Given the description of an element on the screen output the (x, y) to click on. 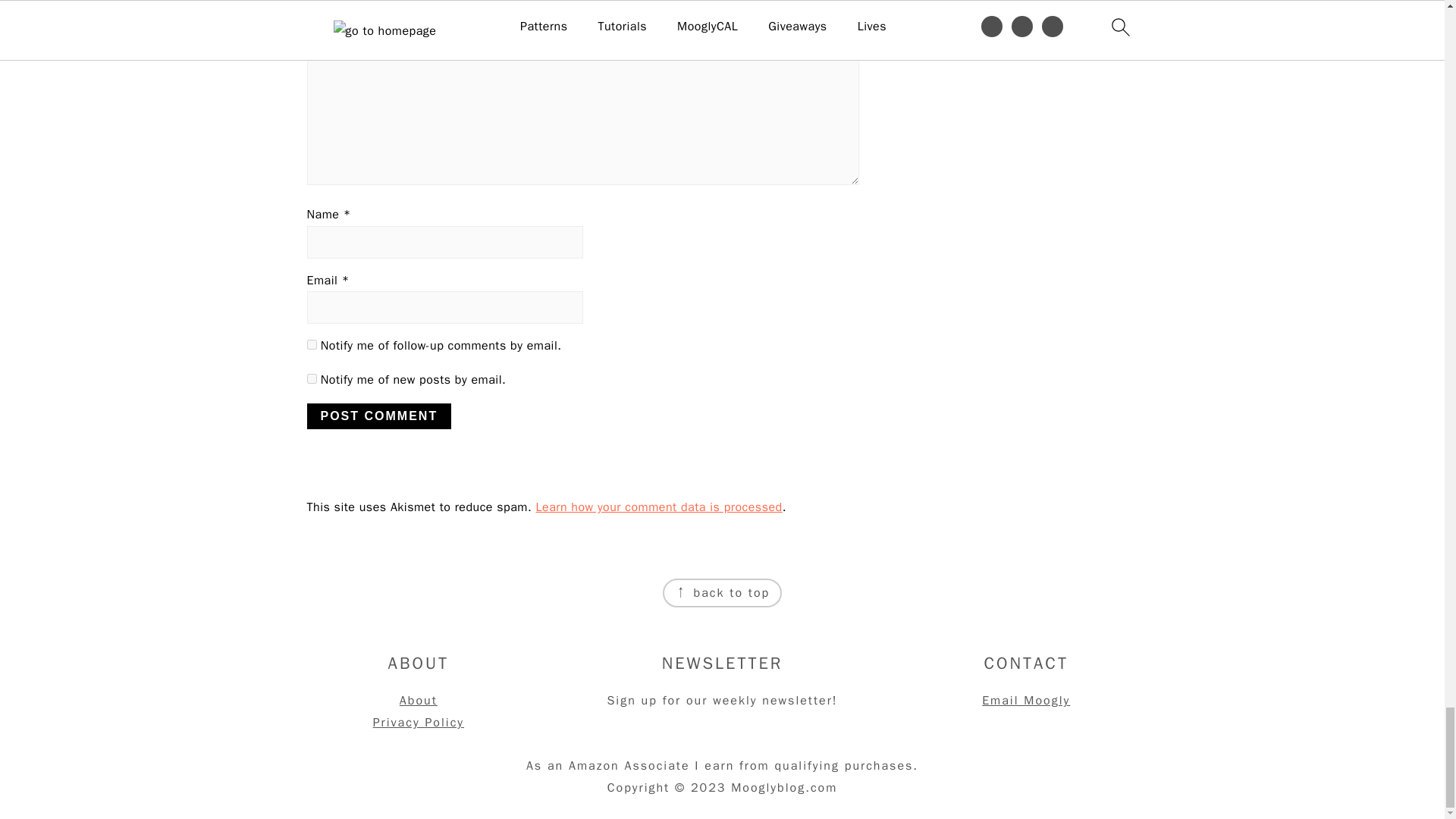
subscribe (310, 378)
Post Comment (378, 416)
subscribe (310, 344)
